Given the description of an element on the screen output the (x, y) to click on. 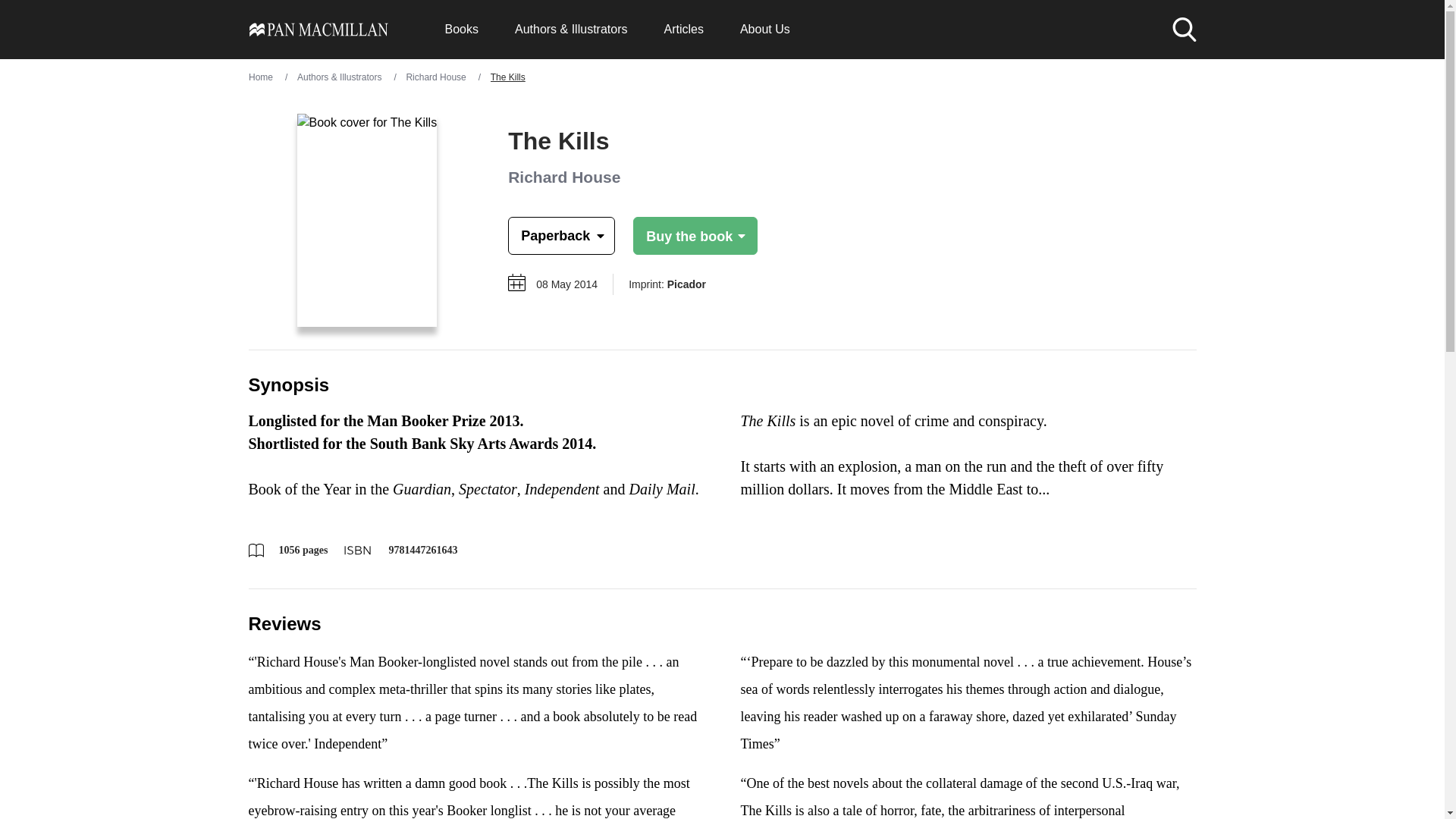
Books (460, 29)
